Given the description of an element on the screen output the (x, y) to click on. 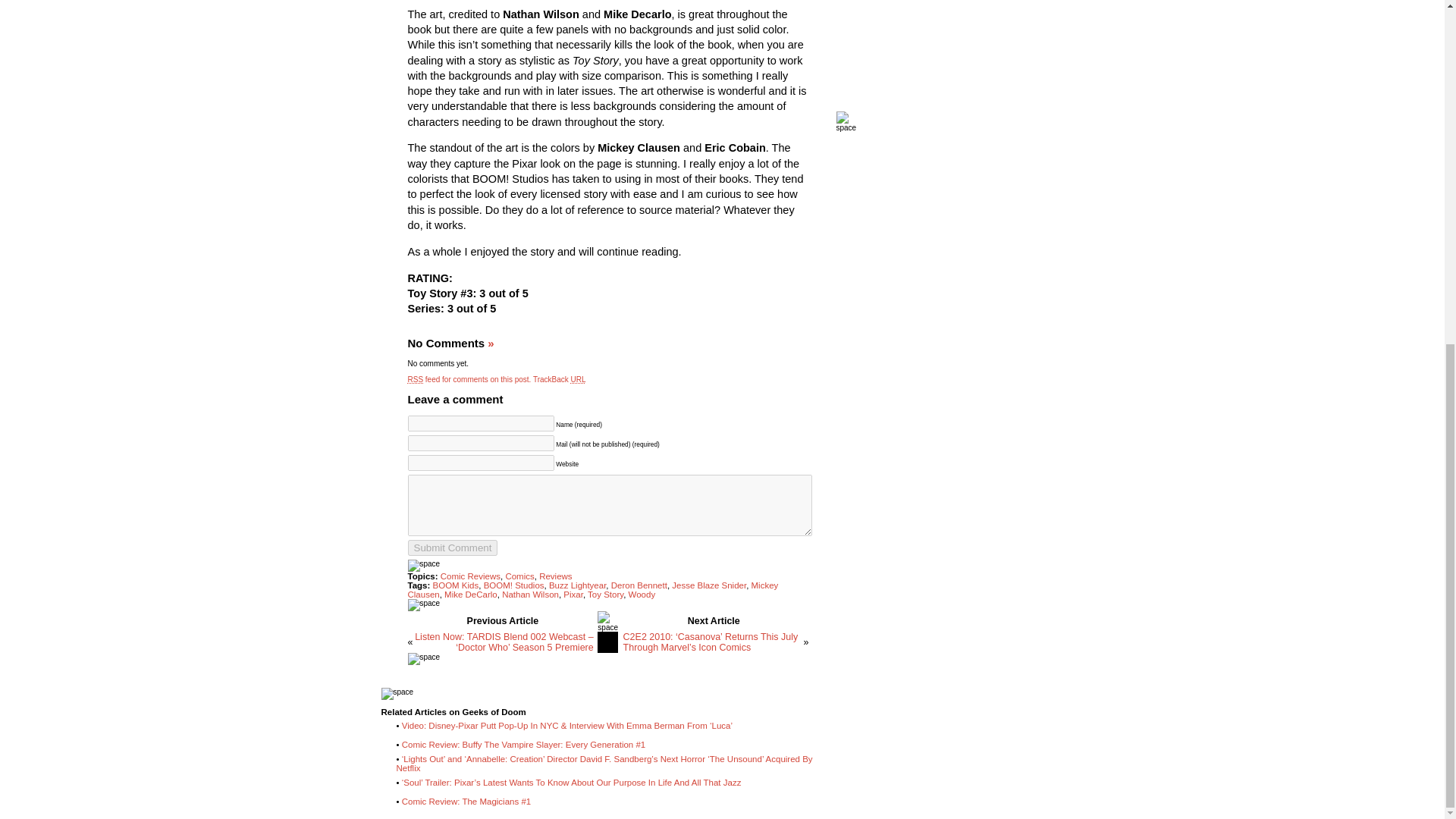
Pixar (573, 593)
TrackBack URL (559, 379)
Reviews (555, 575)
Comics (519, 575)
Submit Comment (452, 547)
Submit Comment (452, 547)
Toy Story (605, 593)
Comic Reviews (470, 575)
Woody (642, 593)
Mike DeCarlo (470, 593)
